Given the description of an element on the screen output the (x, y) to click on. 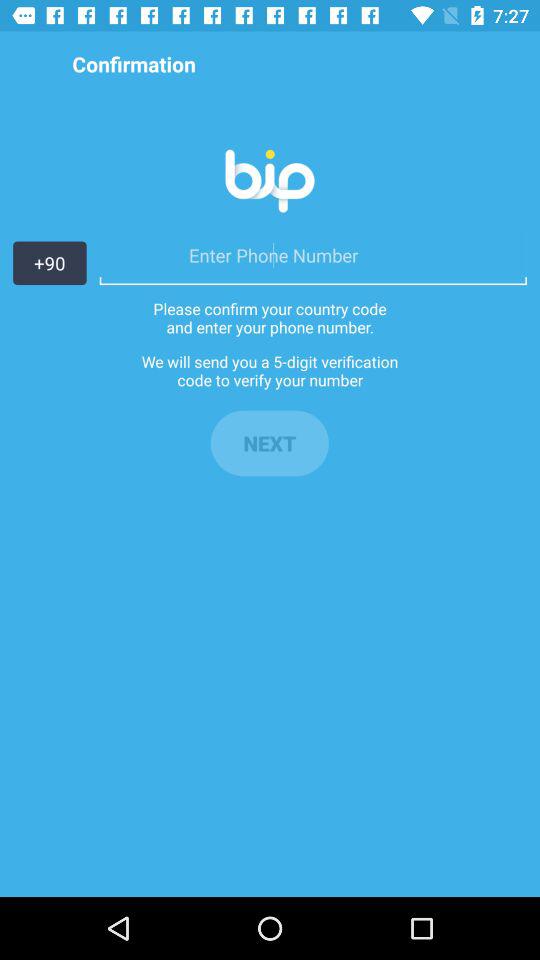
click item to the right of the +90 item (312, 255)
